Given the description of an element on the screen output the (x, y) to click on. 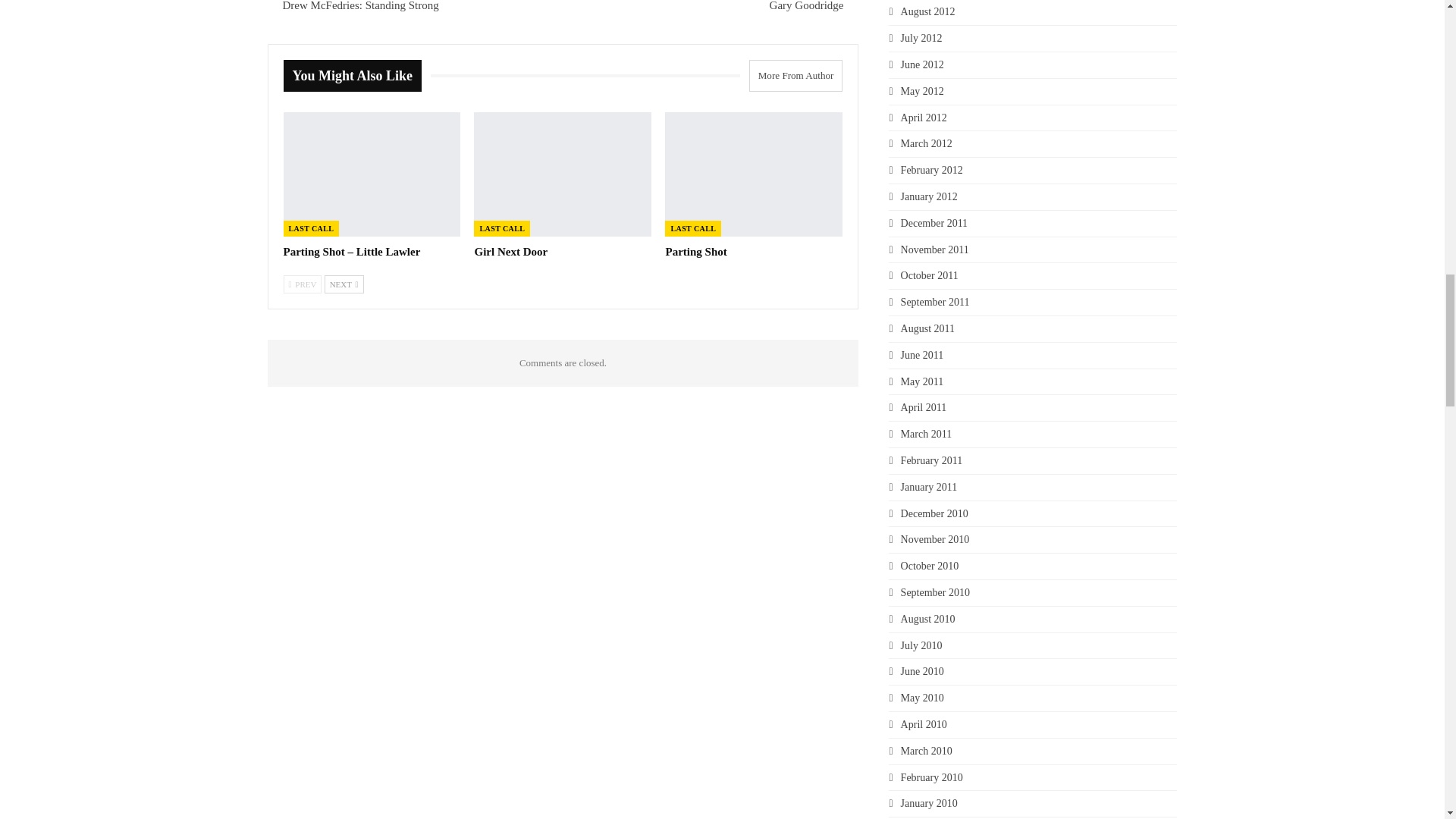
LAST CALL (311, 228)
More From Author (791, 75)
Previous (302, 284)
Girl Next Door (562, 174)
You Might Also Like (356, 75)
Parting Shot (695, 251)
Parting Shot (754, 174)
Drew McFedries: Standing Strong (360, 5)
Gary Goodridge (807, 5)
Girl Next Door (510, 251)
